Given the description of an element on the screen output the (x, y) to click on. 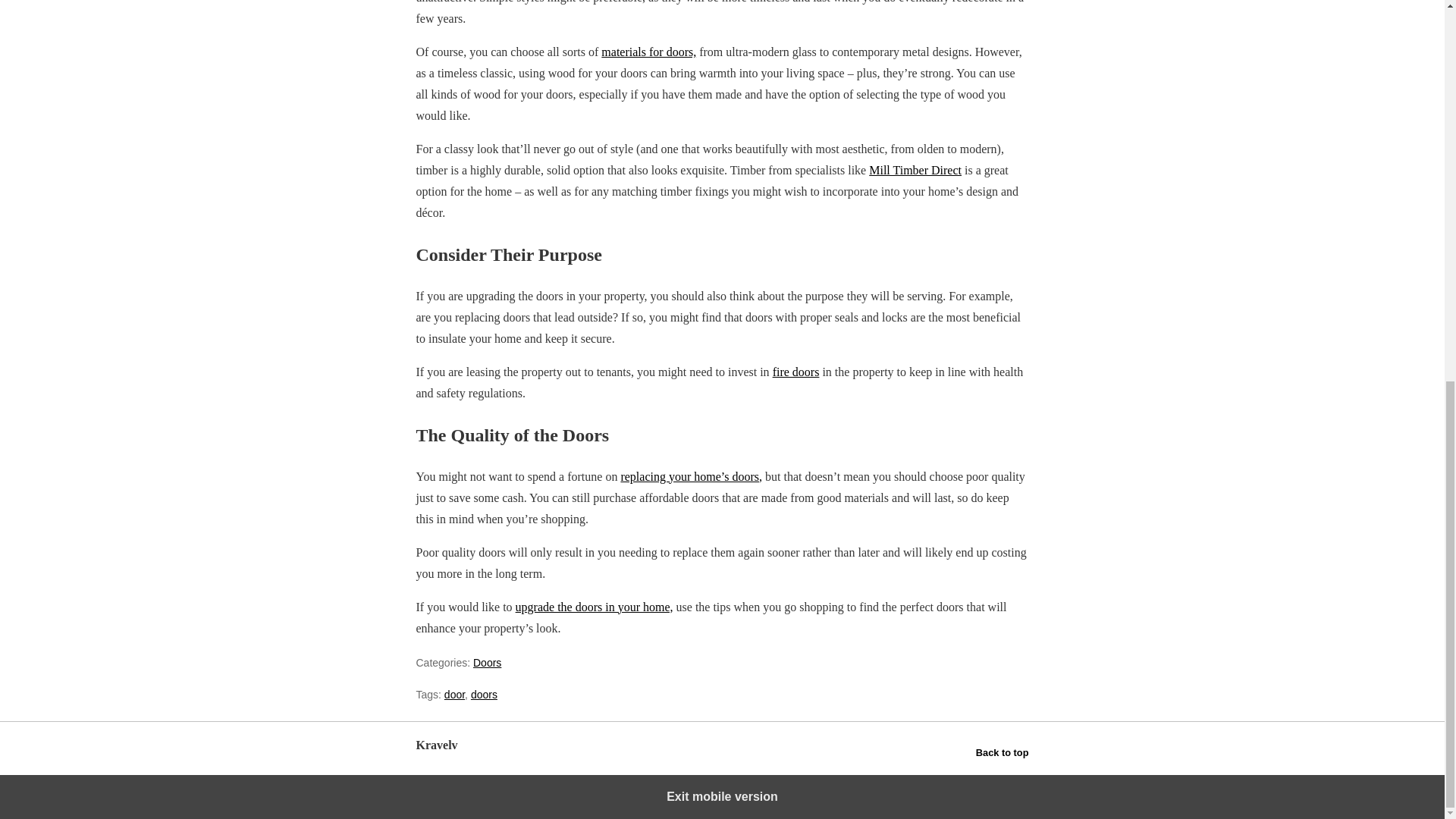
fire doors (796, 371)
materials for doors, (648, 51)
door (454, 694)
doors (483, 694)
Doors (486, 662)
Mill Timber Direct (914, 169)
upgrade the doors in your home, (593, 606)
Back to top (1002, 752)
